Given the description of an element on the screen output the (x, y) to click on. 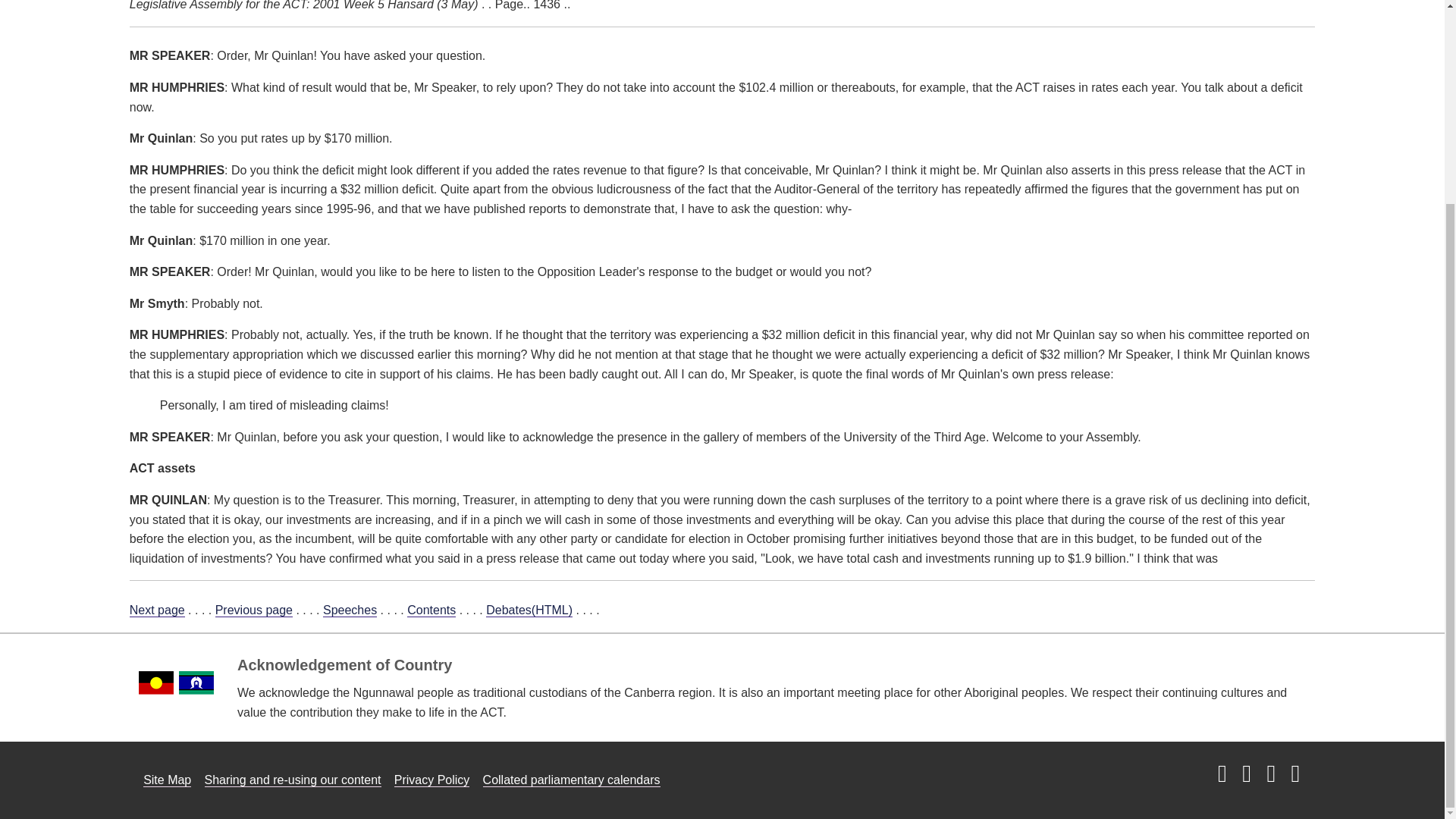
Collated parliamentary calendars (572, 780)
Link to Sharing and re-using our content (293, 780)
Next page (156, 610)
Speeches (350, 610)
Previous page (253, 610)
Sharing and re-using our content (293, 780)
Collated parliamentary calendars (572, 780)
Contents (431, 610)
Privacy Policy (432, 780)
Link to Privacy Policy (432, 780)
